Given the description of an element on the screen output the (x, y) to click on. 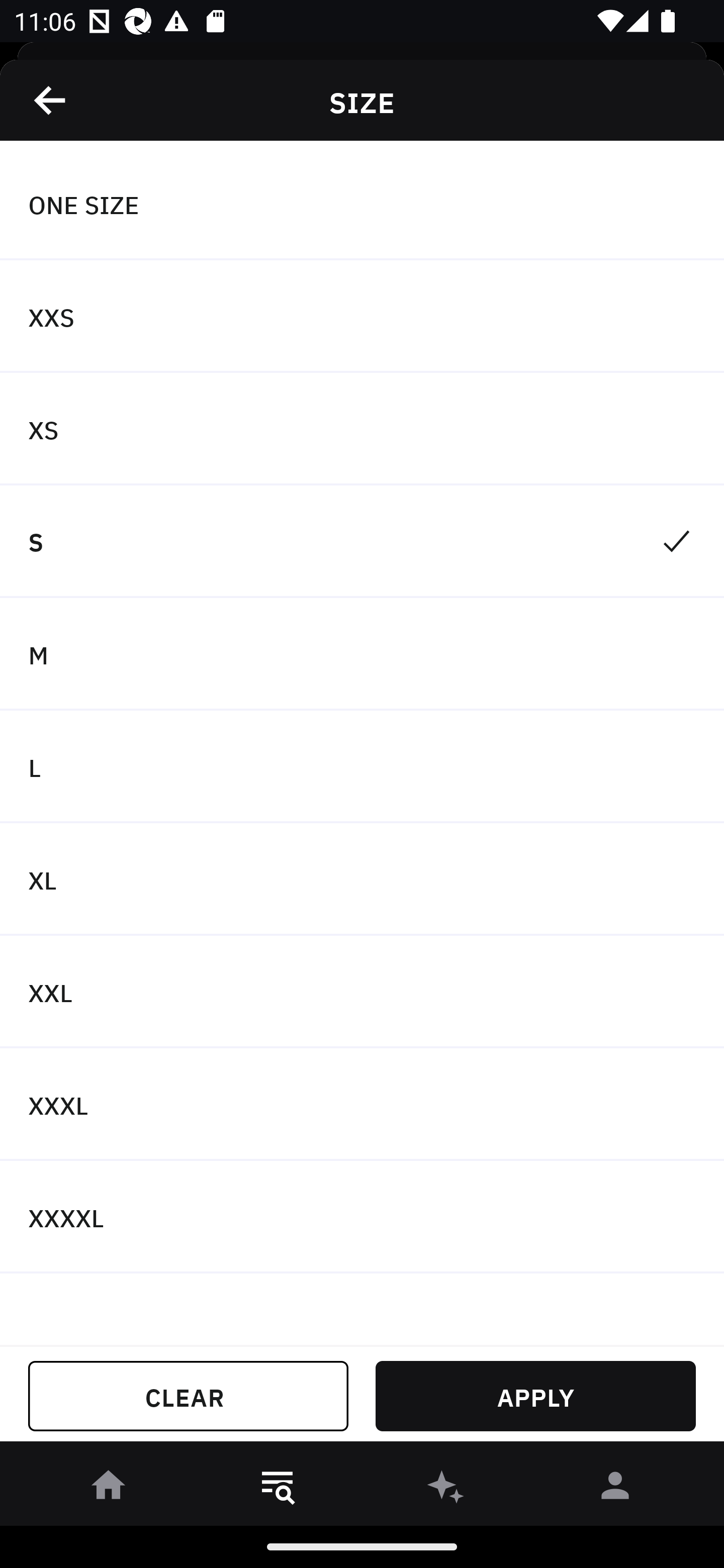
 (50, 100)
ONE SIZE (362, 203)
XXS (362, 316)
XS (362, 429)
S  (362, 541)
M (362, 653)
L (362, 766)
XL (362, 879)
XXL (362, 992)
XXXL (362, 1104)
XXXXL (362, 1216)
CLEAR  (188, 1396)
APPLY (535, 1396)
󰋜 (108, 1488)
󱎸 (277, 1488)
󰫢 (446, 1488)
󰀄 (615, 1488)
